Given the description of an element on the screen output the (x, y) to click on. 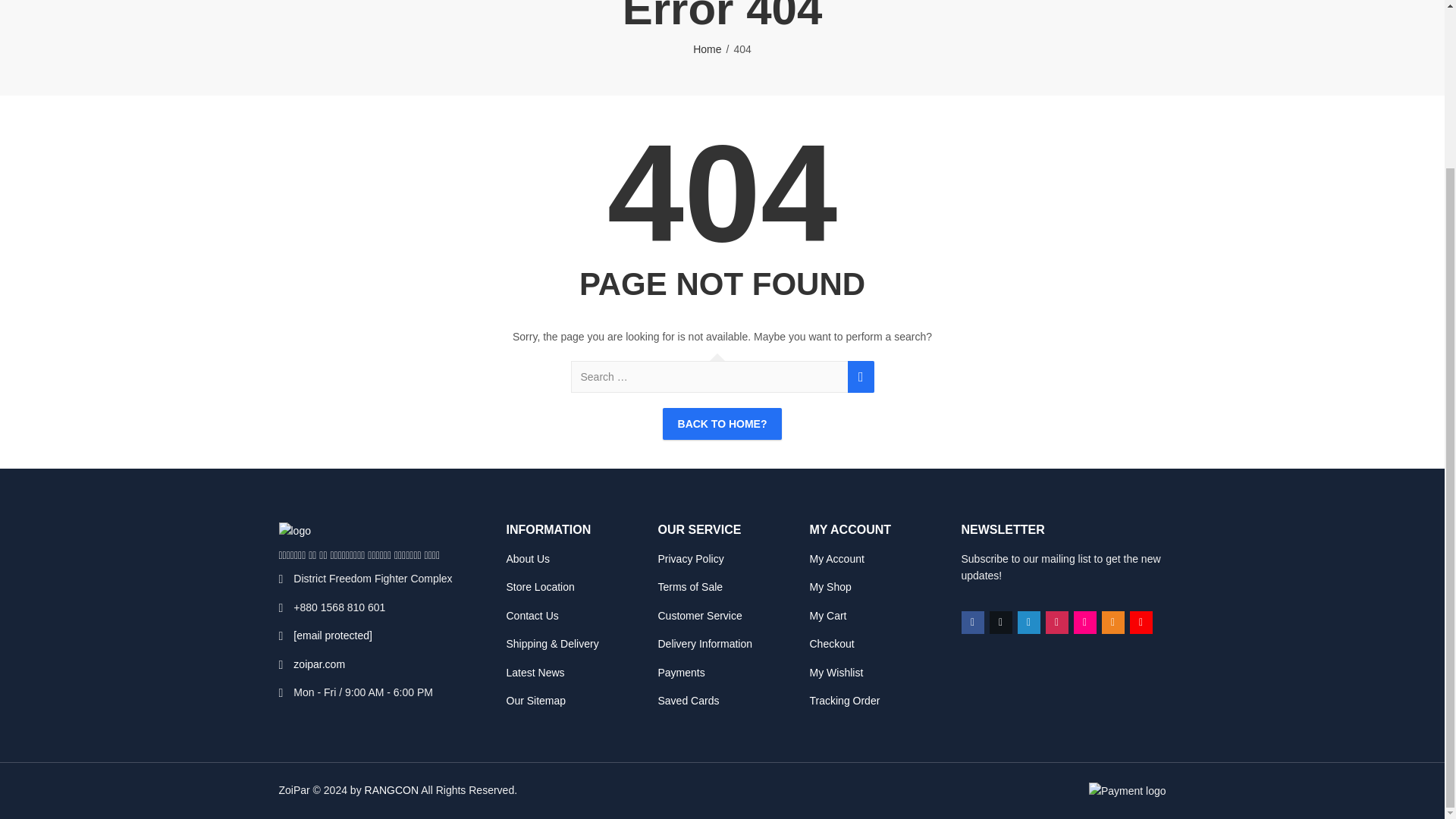
Home (706, 48)
